Given the description of an element on the screen output the (x, y) to click on. 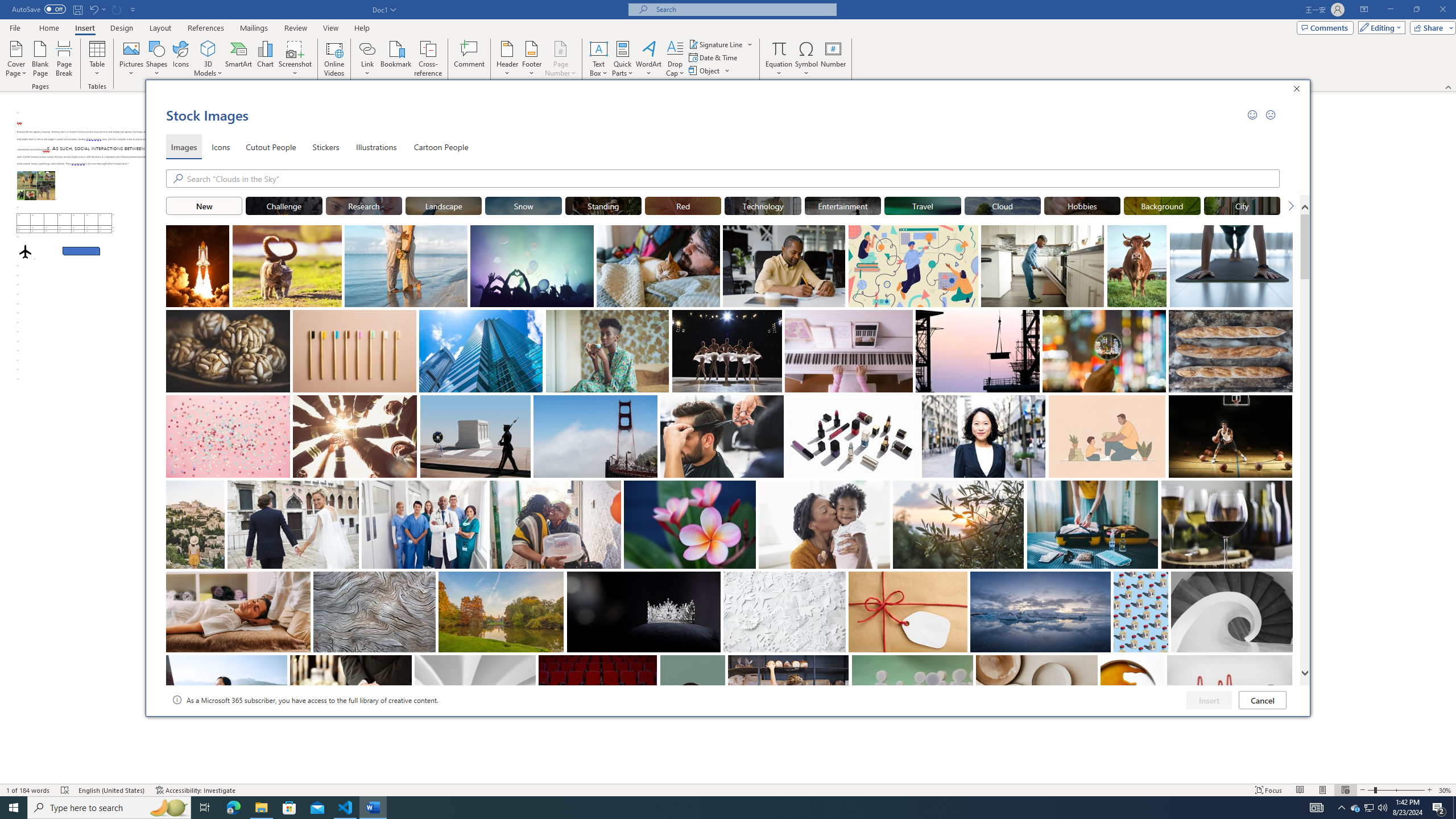
Restore Down (1416, 9)
"Background" Stock Images. (1162, 205)
Equation (778, 48)
Undo Apply Quick Style Set (92, 9)
Microsoft Edge (233, 807)
"Technology" Stock Images. (762, 205)
Shapes (156, 58)
Cross-reference... (428, 58)
Visual Studio Code - 1 running window (345, 807)
Signature Line (716, 44)
